Given the description of an element on the screen output the (x, y) to click on. 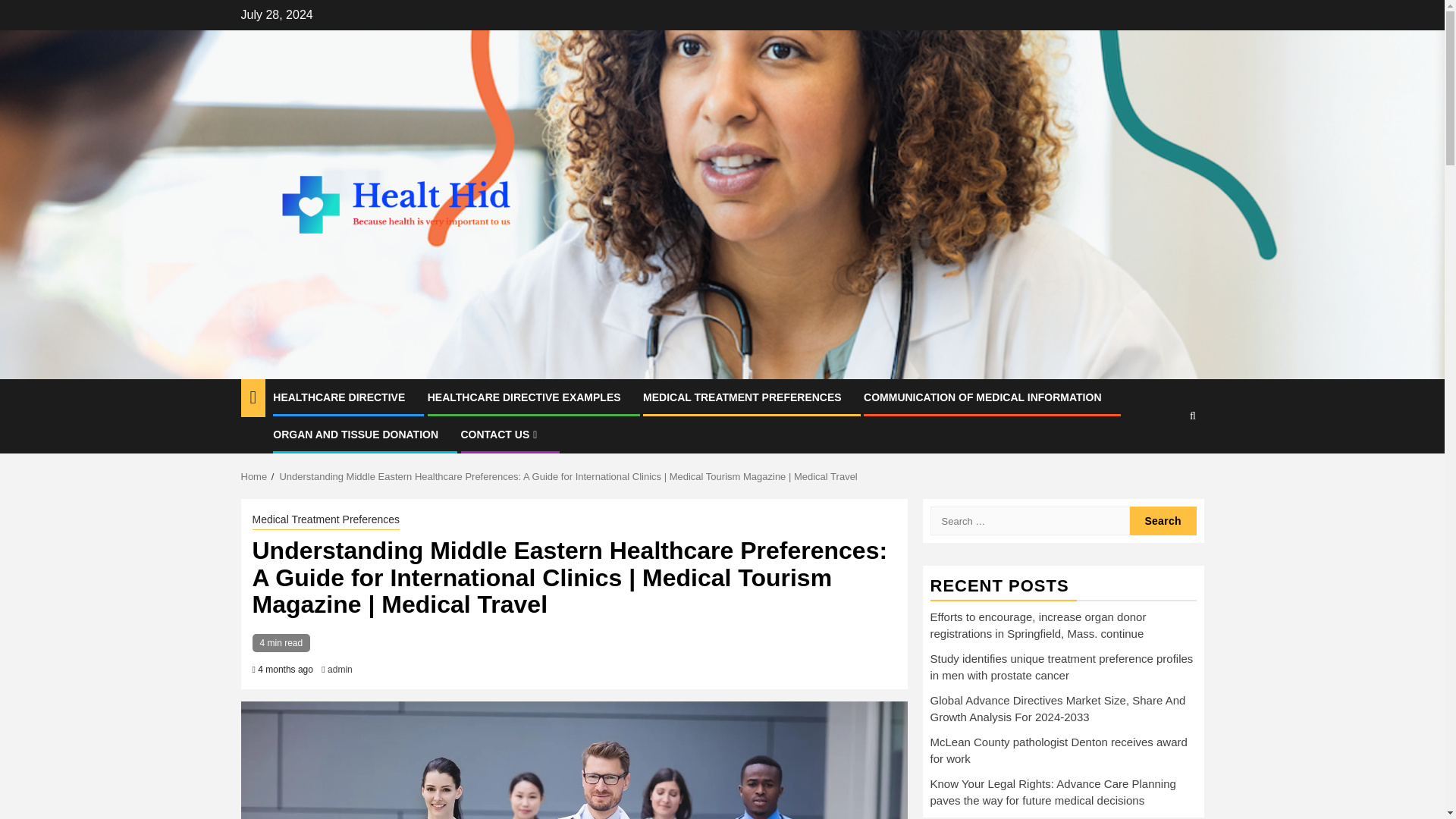
Search (1162, 520)
admin (339, 669)
Home (254, 476)
COMMUNICATION OF MEDICAL INFORMATION (981, 397)
Search (1162, 520)
HEALTHCARE DIRECTIVE (338, 397)
MEDICAL TREATMENT PREFERENCES (742, 397)
ORGAN AND TISSUE DONATION (355, 434)
Medical Treatment Preferences (324, 520)
HEALTHCARE DIRECTIVE EXAMPLES (524, 397)
CONTACT US (501, 434)
Search (1163, 461)
